Given the description of an element on the screen output the (x, y) to click on. 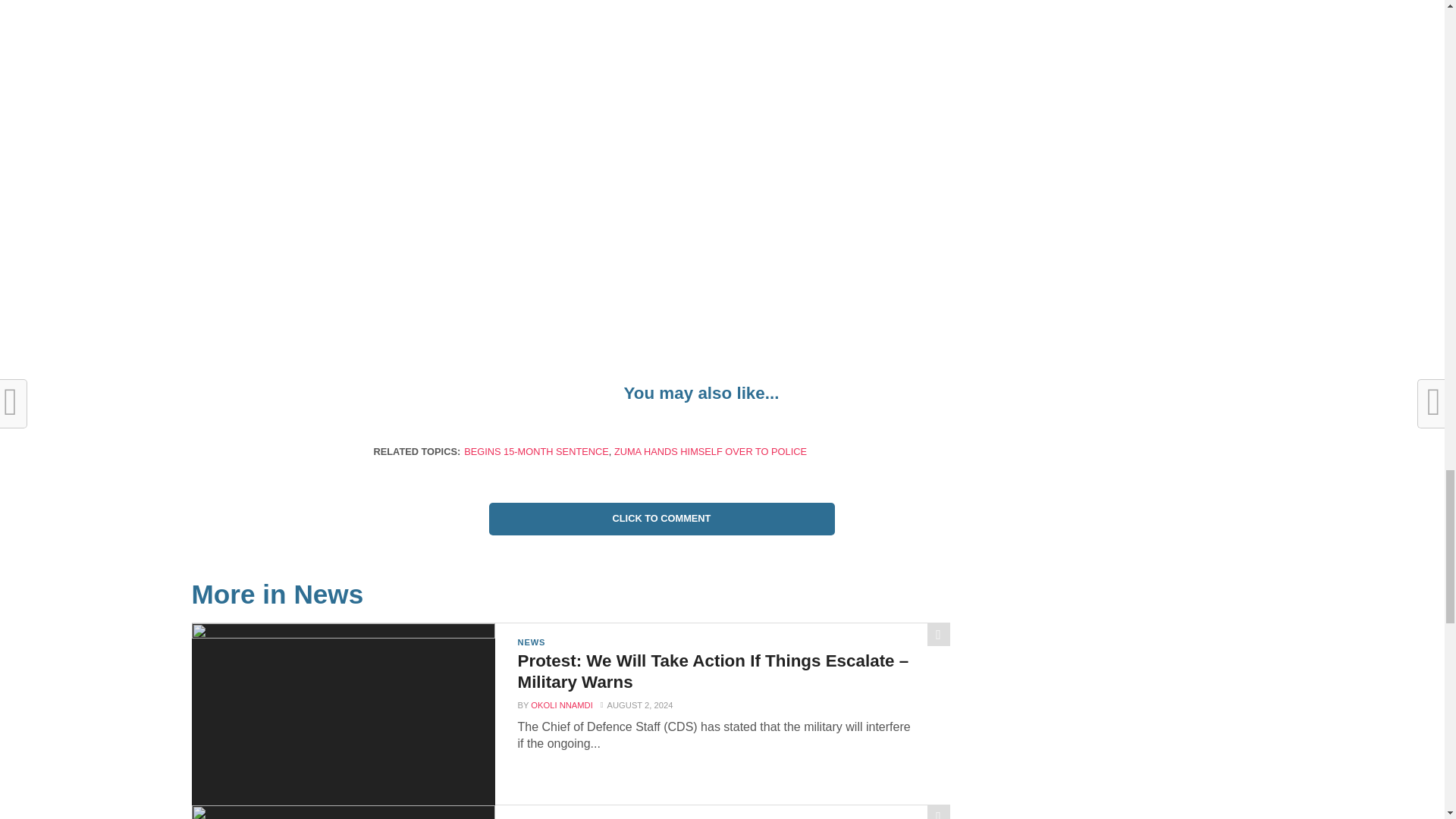
Posts by Okoli Nnamdi (561, 705)
